Given the description of an element on the screen output the (x, y) to click on. 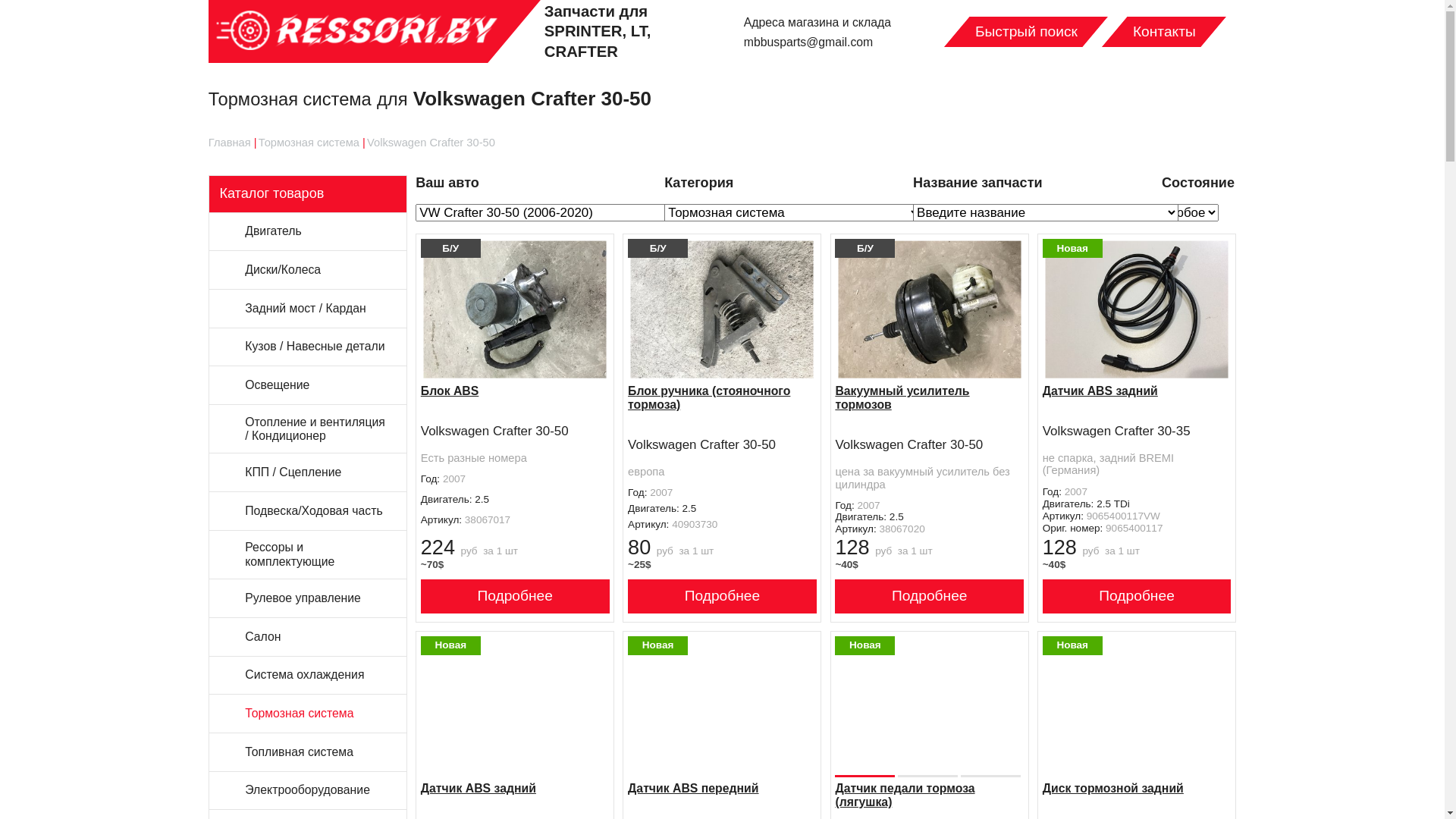
mbbusparts@gmail.com Element type: text (808, 42)
